Given the description of an element on the screen output the (x, y) to click on. 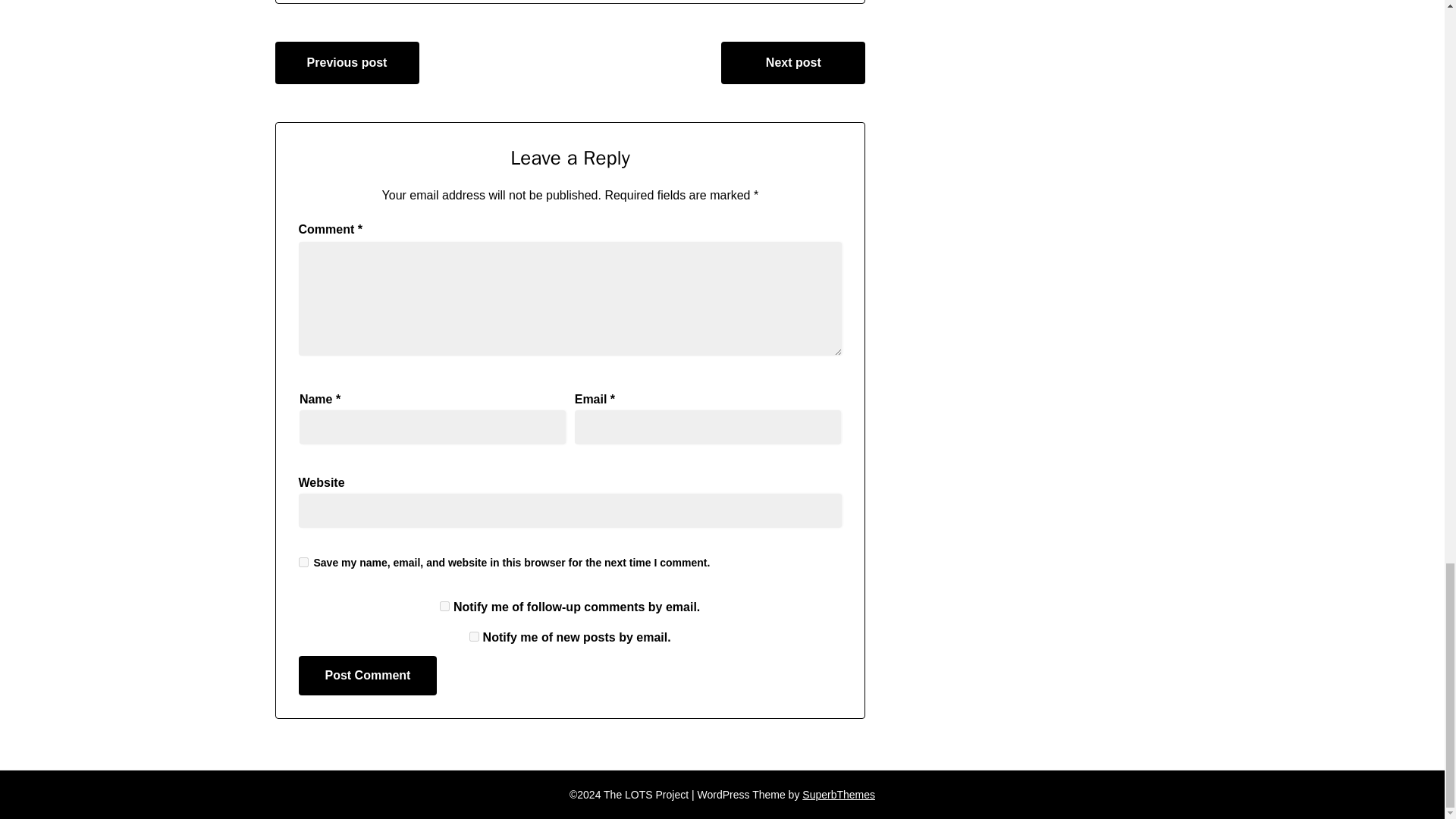
yes (303, 562)
subscribe (473, 636)
subscribe (444, 605)
Post Comment (368, 675)
